Given the description of an element on the screen output the (x, y) to click on. 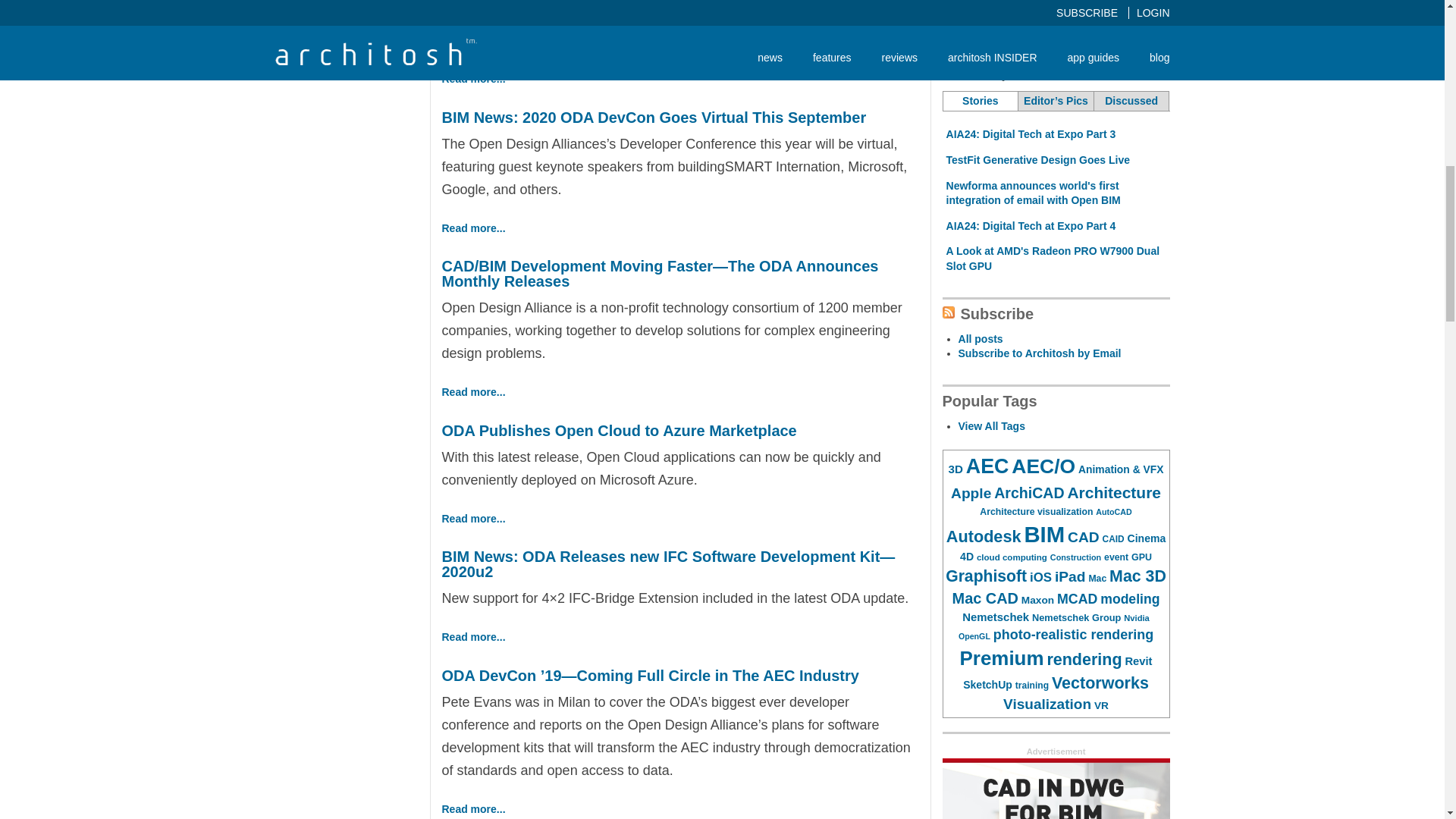
Read more... (473, 636)
Read more... (473, 808)
ODA Publishes Open Cloud to Azure Marketplace (618, 430)
BIM News: 2020 ODA DevCon Goes Virtual This September (653, 117)
Read more... (473, 227)
Read more... (473, 391)
Read more... (473, 518)
Read more... (473, 78)
